Given the description of an element on the screen output the (x, y) to click on. 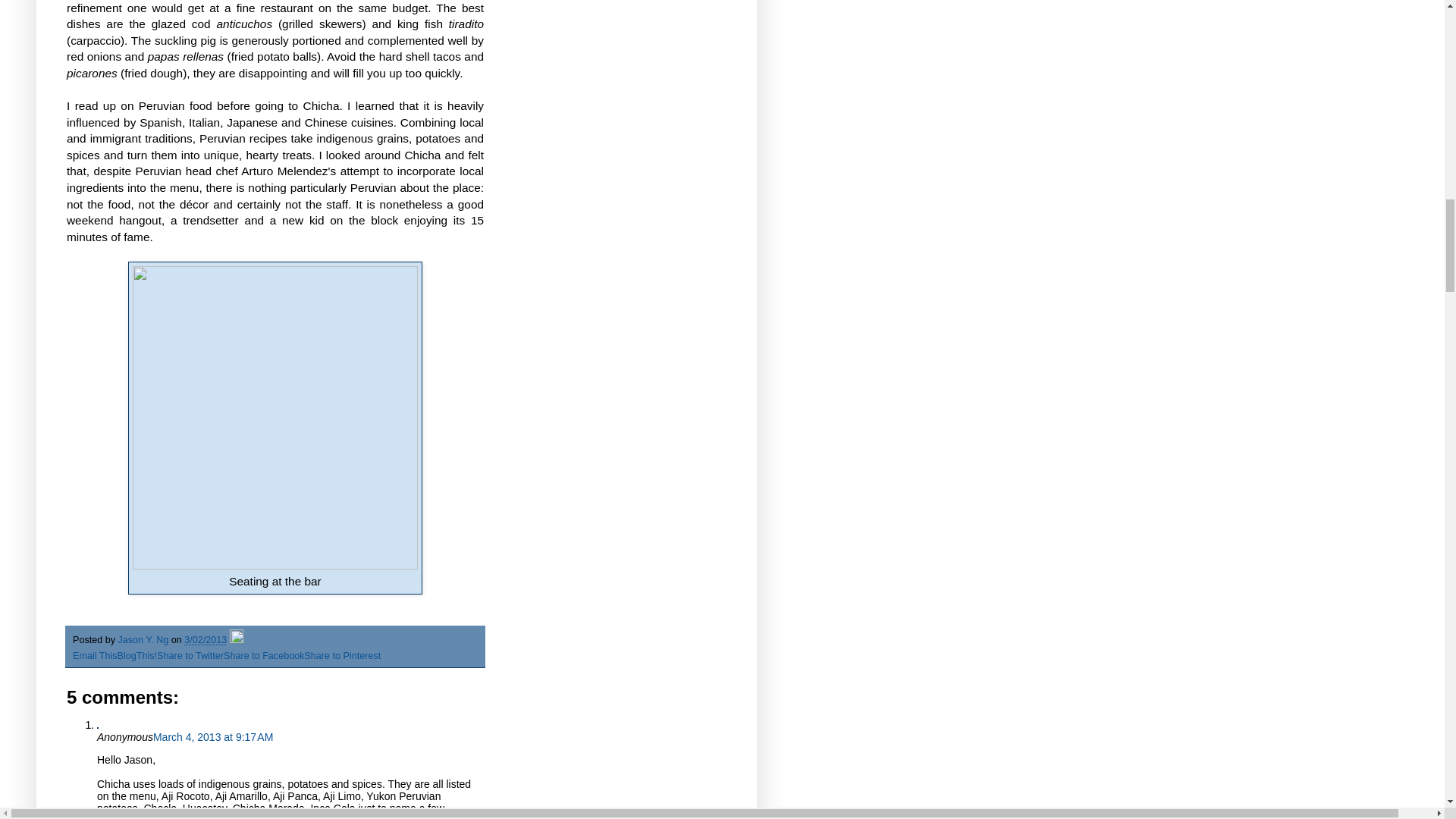
Email This (94, 655)
Share to Pinterest (342, 655)
Email This (94, 655)
Share to Facebook (264, 655)
author profile (144, 639)
Edit Post (236, 639)
BlogThis! (137, 655)
BlogThis! (137, 655)
Jason Y. Ng (144, 639)
Share to Facebook (264, 655)
Share to Pinterest (342, 655)
Share to Twitter (190, 655)
Share to Twitter (190, 655)
permanent link (205, 639)
